Given the description of an element on the screen output the (x, y) to click on. 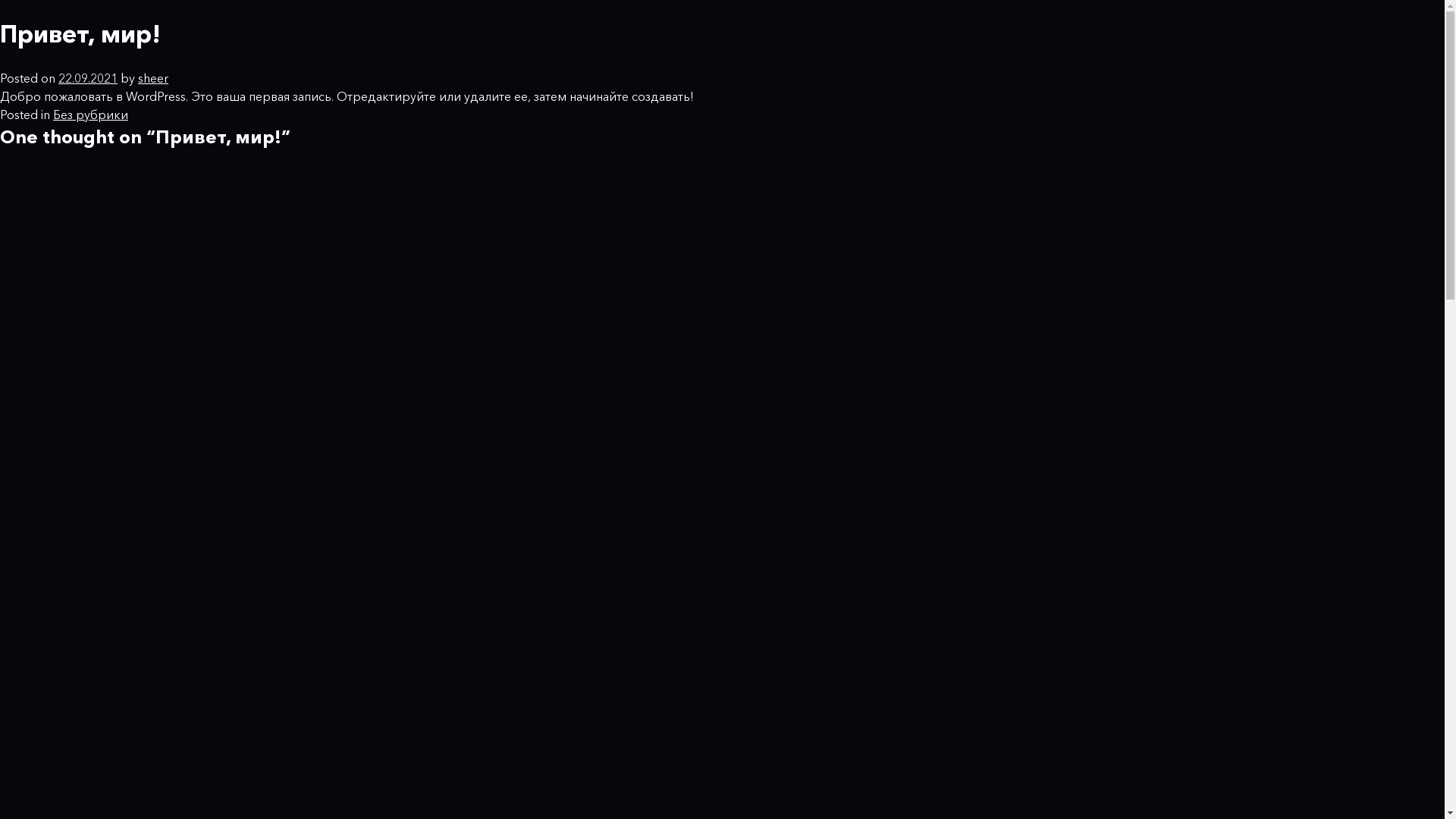
sheer Element type: text (153, 77)
22.09.2021 Element type: text (87, 77)
